Given the description of an element on the screen output the (x, y) to click on. 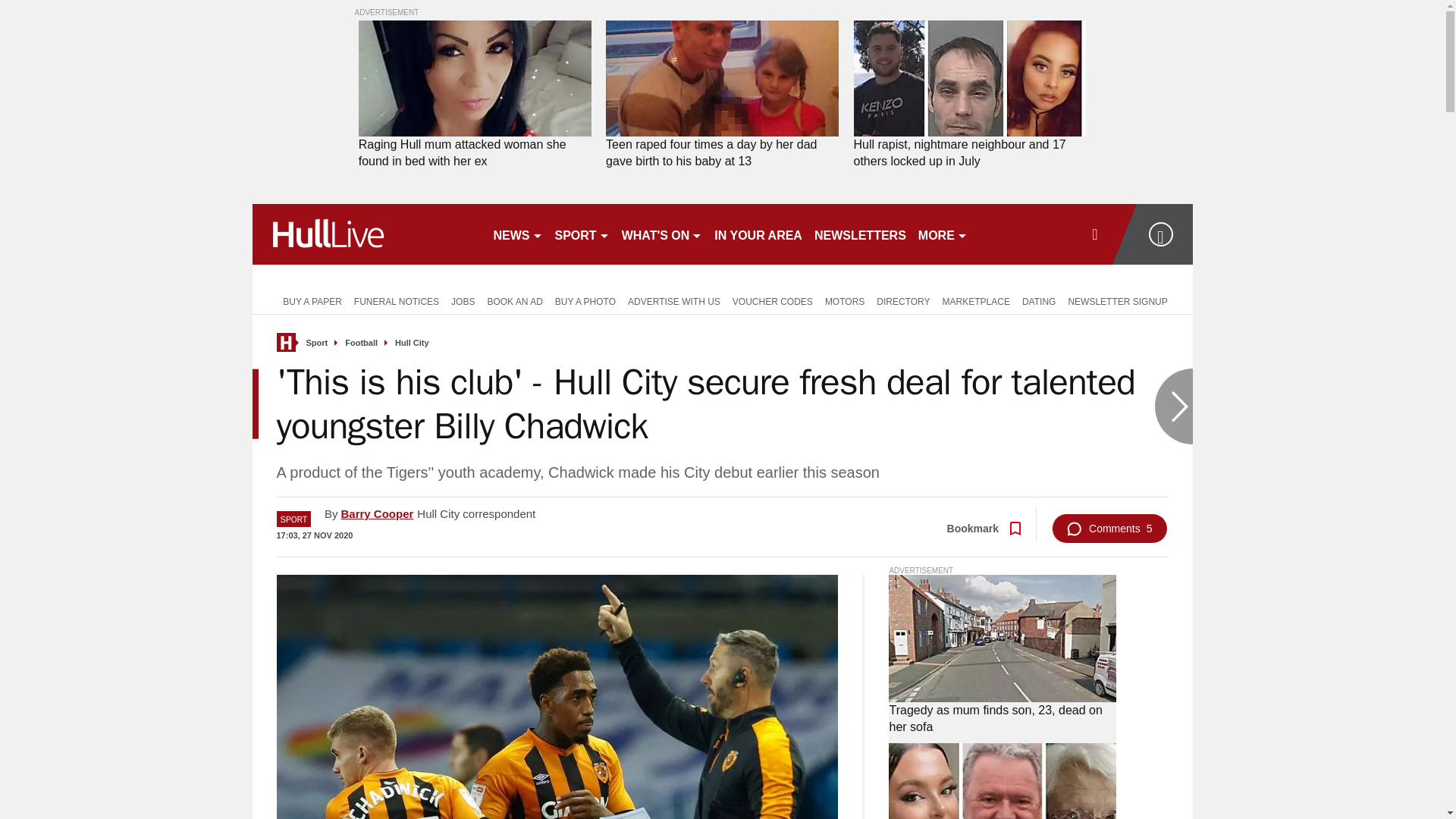
NEWSLETTERS (860, 233)
Comments (1108, 528)
Raging Hull mum attacked woman she found in bed with her ex (474, 152)
Raging Hull mum attacked woman she found in bed with her ex (474, 152)
NEWS (517, 233)
WHAT'S ON (662, 233)
hulldailymail (365, 233)
SPORT (581, 233)
IN YOUR AREA (757, 233)
